Given the description of an element on the screen output the (x, y) to click on. 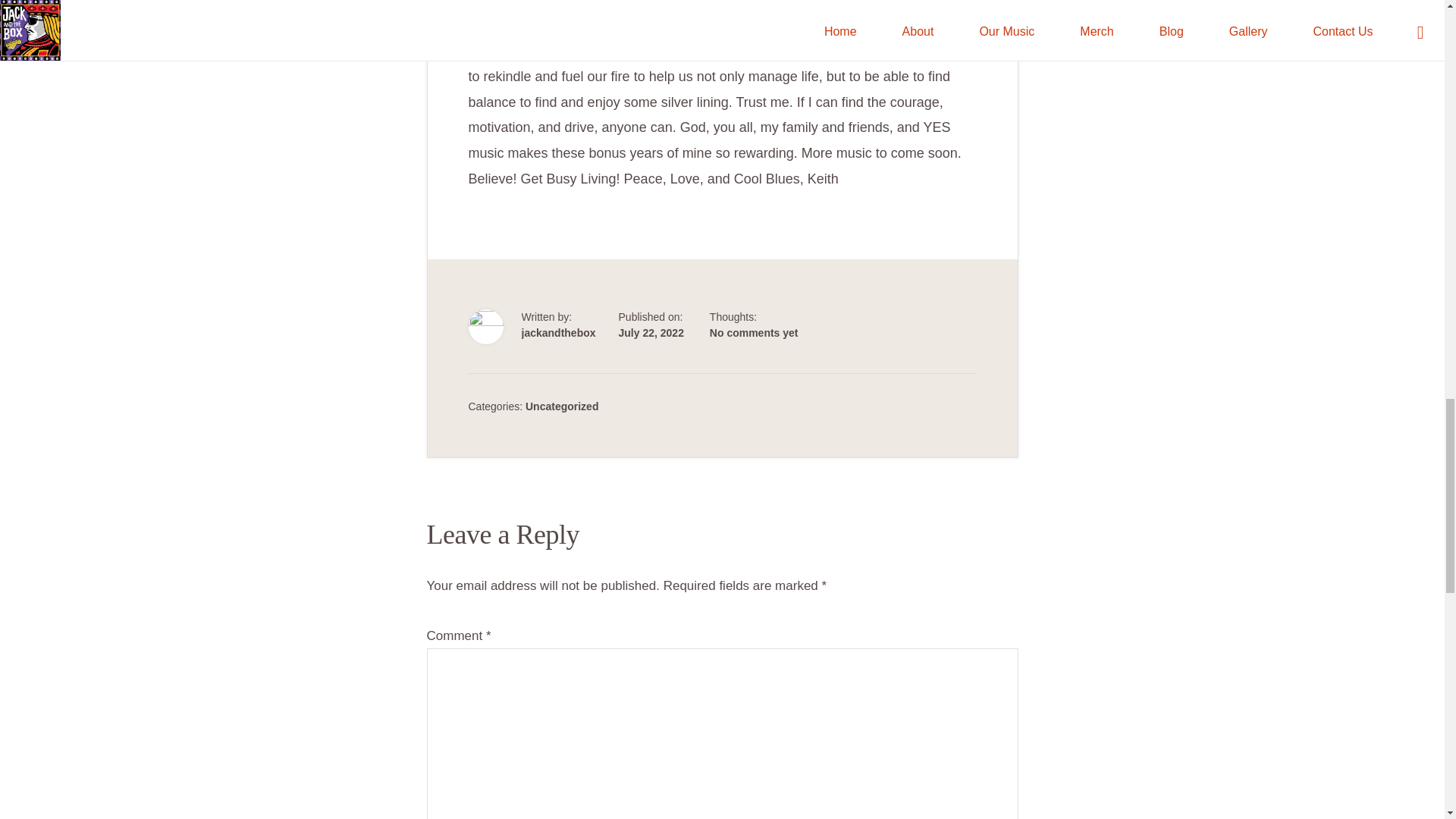
No comments yet (753, 332)
jackandthebox (558, 332)
Uncategorized (561, 406)
